Given the description of an element on the screen output the (x, y) to click on. 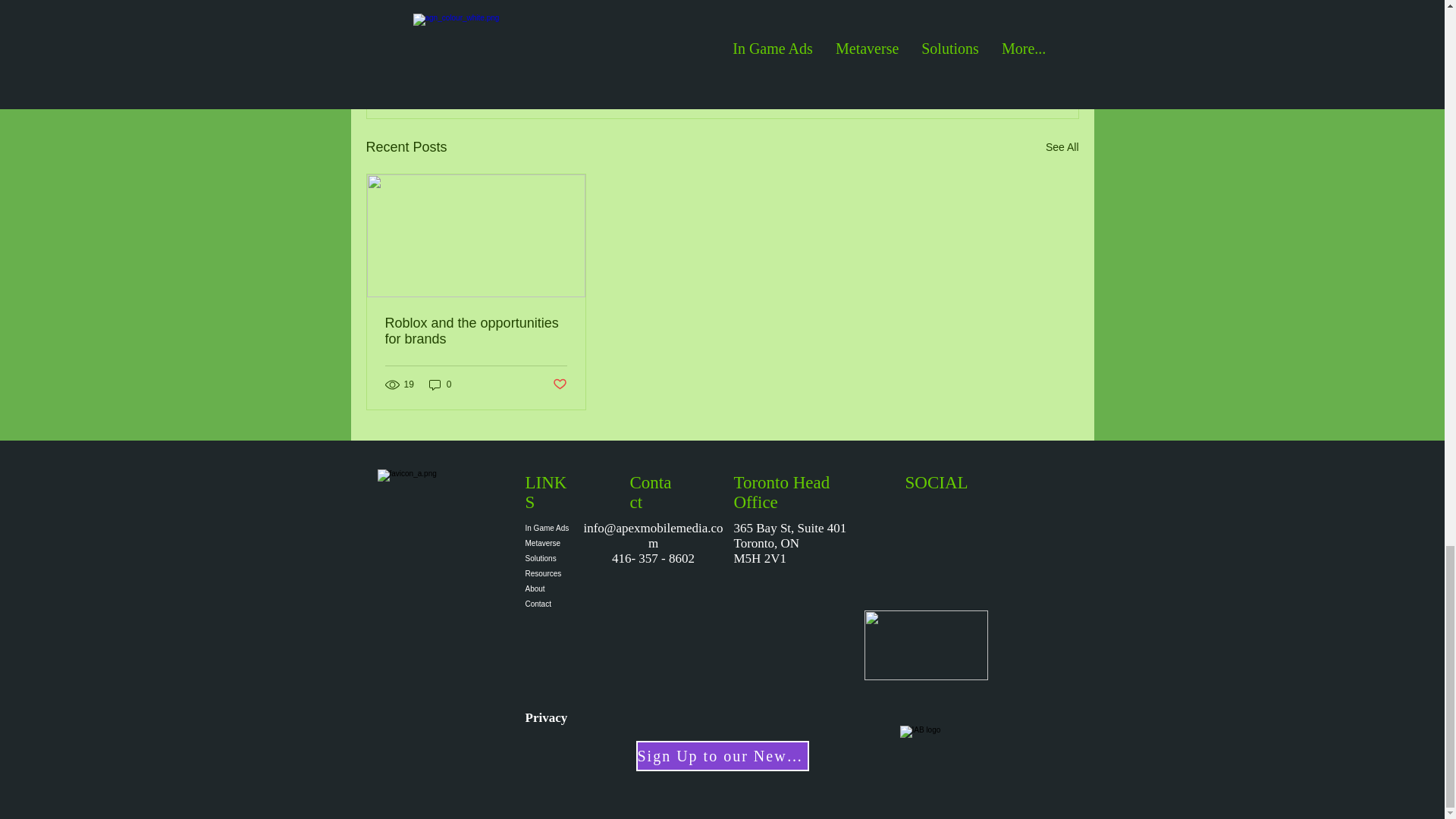
Post not marked as liked (995, 64)
Post not marked as liked (558, 384)
See All (1061, 147)
Metaverse (548, 543)
0 (440, 383)
In Game Ads (548, 528)
Roblox and the opportunities for brands (476, 331)
